Given the description of an element on the screen output the (x, y) to click on. 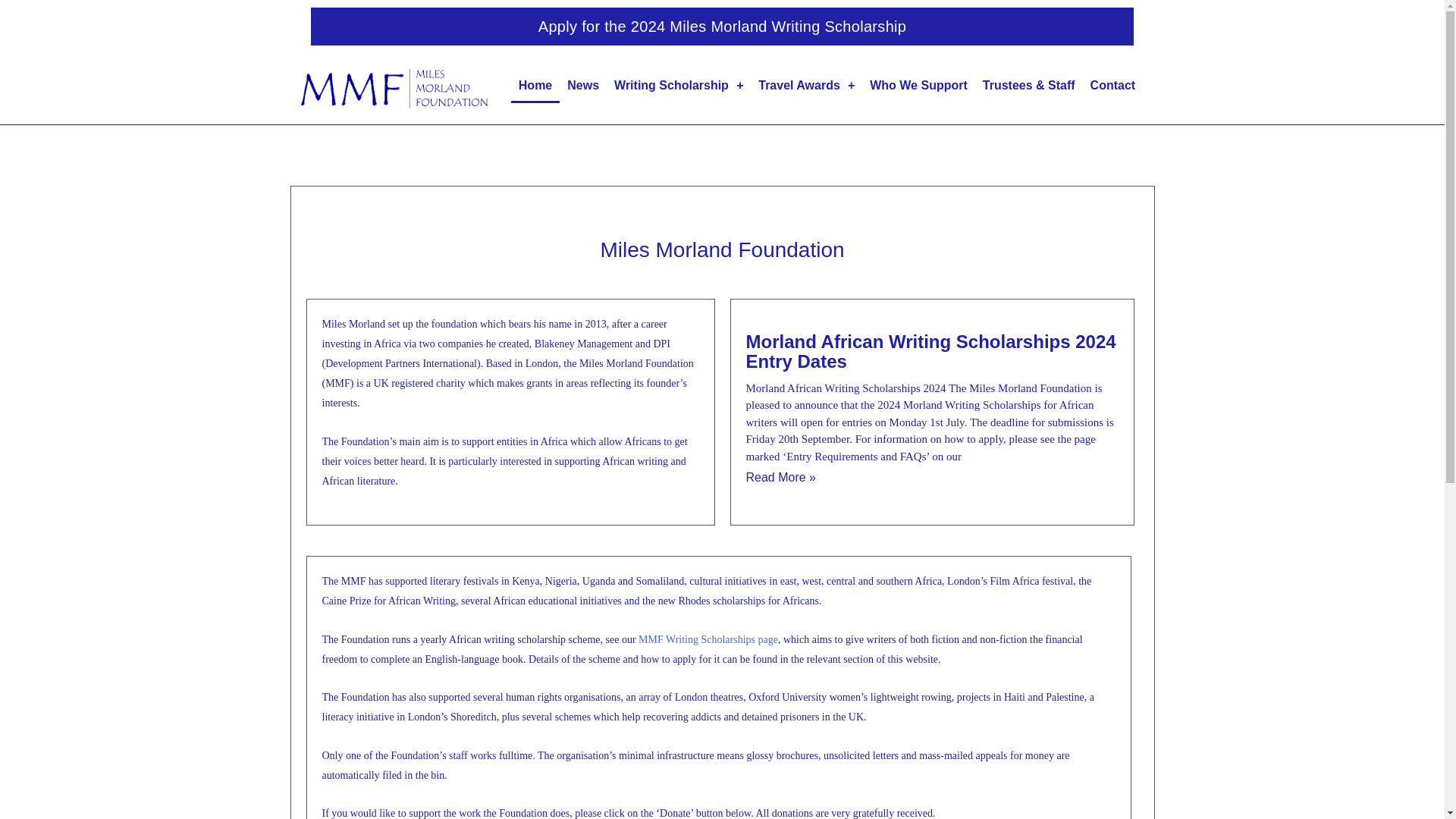
MMF Writing Scholarships page (708, 639)
Home (535, 85)
Morland African Writing Scholarships 2024 Entry Dates (930, 351)
Travel Awards (806, 85)
News (583, 85)
Who We Support (918, 85)
Contact (1112, 85)
Writing Scholarship (679, 85)
Apply for the 2024 Miles Morland Writing Scholarship (722, 26)
